Given the description of an element on the screen output the (x, y) to click on. 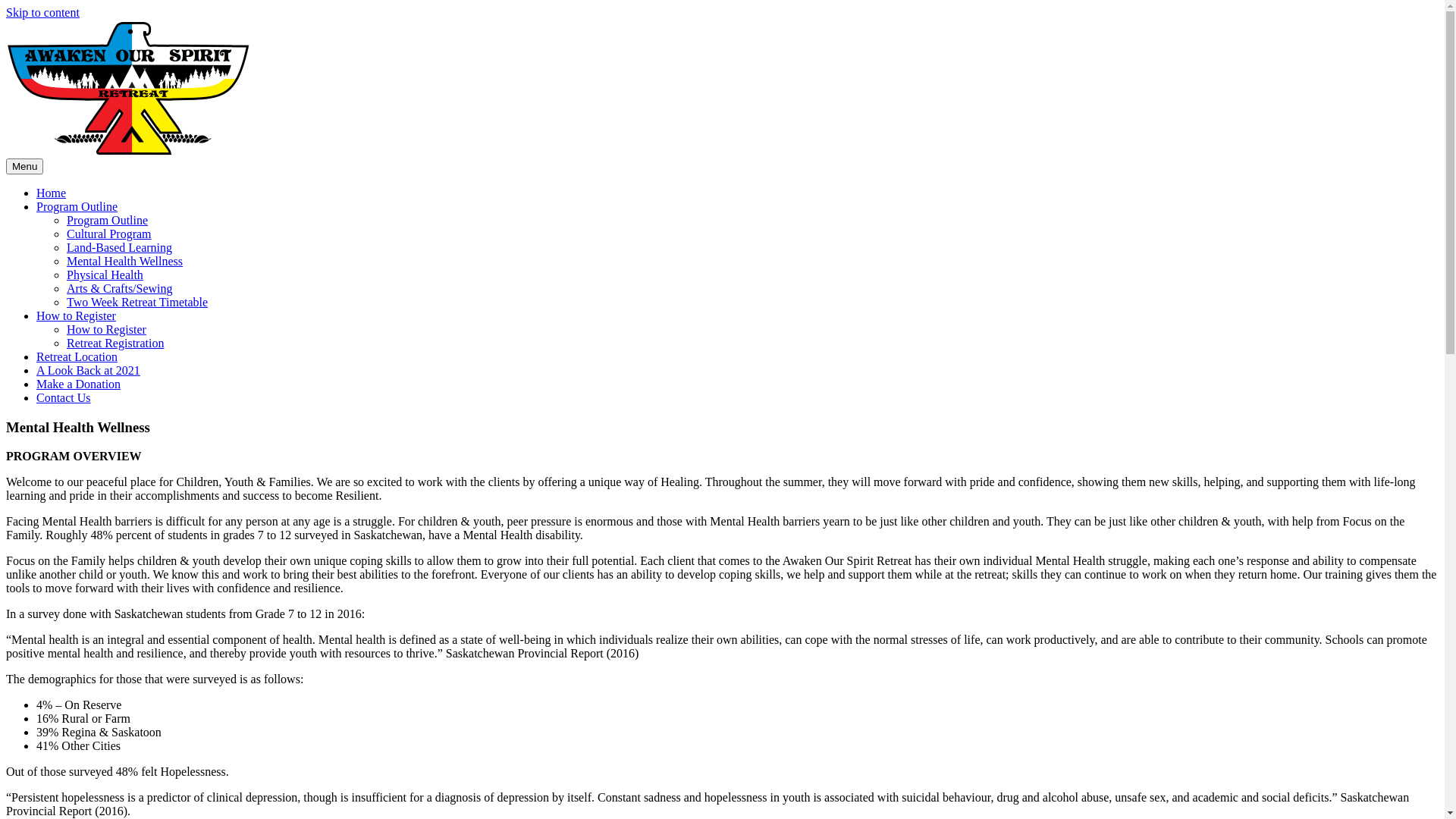
Program Outline Element type: text (76, 206)
Two Week Retreat Timetable Element type: text (136, 301)
Make a Donation Element type: text (78, 383)
Skip to content Element type: text (42, 12)
Menu Element type: text (24, 166)
Retreat Location Element type: text (76, 356)
Arts & Crafts/Sewing Element type: text (119, 288)
Awaken Our Spirit Retreat Element type: hover (128, 87)
A Look Back at 2021 Element type: text (88, 370)
Physical Health Element type: text (104, 274)
How to Register Element type: text (106, 329)
Program Outline Element type: text (106, 219)
Retreat Registration Element type: text (114, 342)
Home Element type: text (50, 192)
Mental Health Wellness Element type: text (124, 260)
Cultural Program Element type: text (108, 233)
Awaken Our Spirit Retreat Element type: hover (128, 150)
Land-Based Learning Element type: text (119, 247)
Contact Us Element type: text (63, 397)
How to Register Element type: text (76, 315)
